Given the description of an element on the screen output the (x, y) to click on. 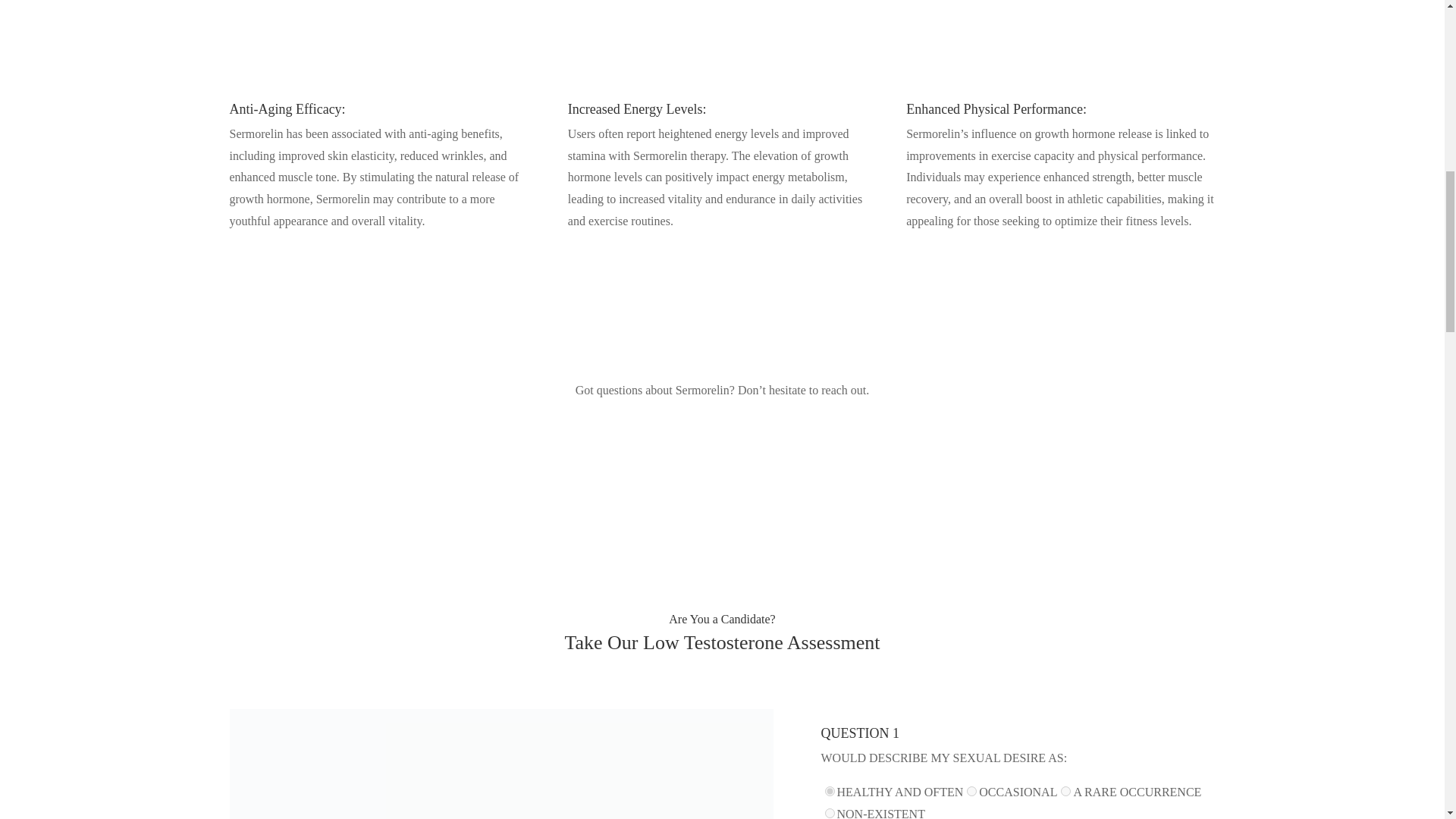
NON-EXISTENT (829, 813)
HEALTHY AND OFTEN (829, 791)
question-banner (500, 764)
OCCASIONAL (971, 791)
A RARE OCCURRENCE (1065, 791)
